Given the description of an element on the screen output the (x, y) to click on. 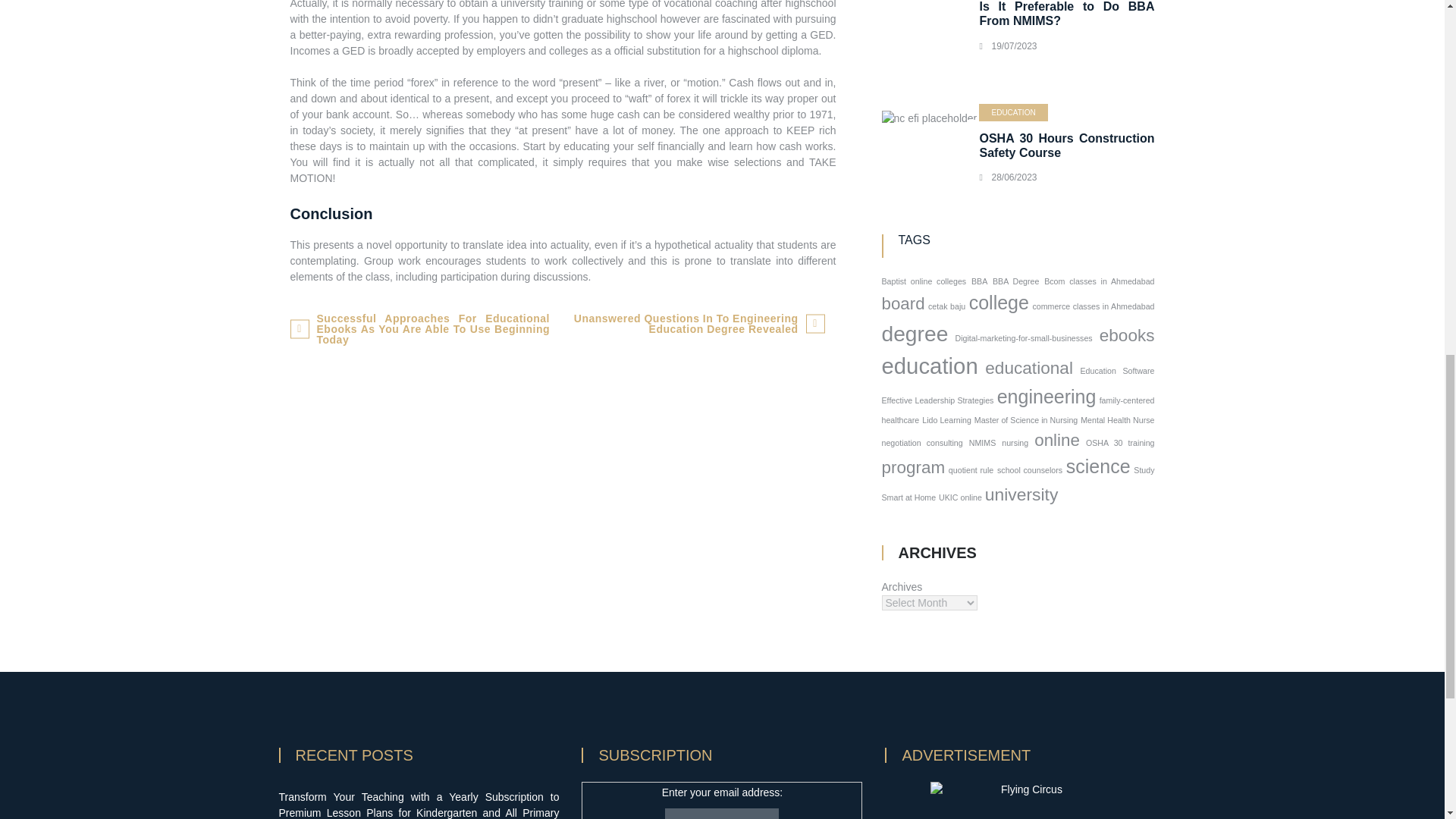
EDUCATION (1012, 112)
BBA Degree (1015, 280)
college (999, 301)
OSHA 30 Hours Construction Safety Course (1066, 144)
BBA (979, 280)
commerce classes in Ahmedabad (1093, 306)
Is It Preferable to Do BBA From NMIMS? 6 (935, 32)
Flying Circus (1024, 800)
Bcom classes in Ahmedabad (1098, 280)
